Given the description of an element on the screen output the (x, y) to click on. 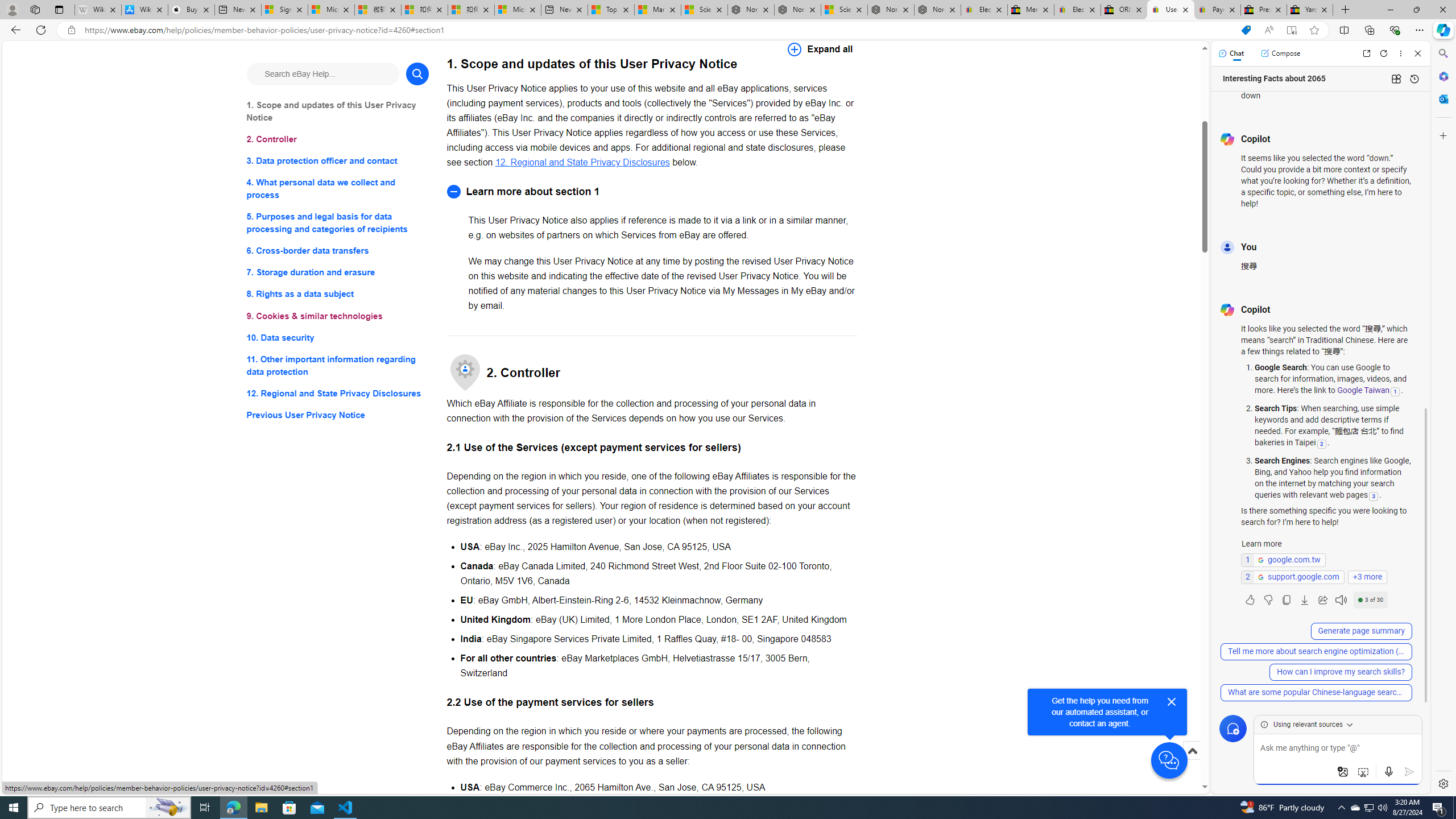
10. Data security (337, 336)
Search eBay Help... (322, 73)
8. Rights as a data subject (337, 293)
7. Storage duration and erasure (337, 272)
Wikipedia - Sleeping (97, 9)
9. Cookies & similar technologies (337, 315)
Press Room - eBay Inc. (1263, 9)
Compose (1280, 52)
Previous User Privacy Notice (337, 414)
